Given the description of an element on the screen output the (x, y) to click on. 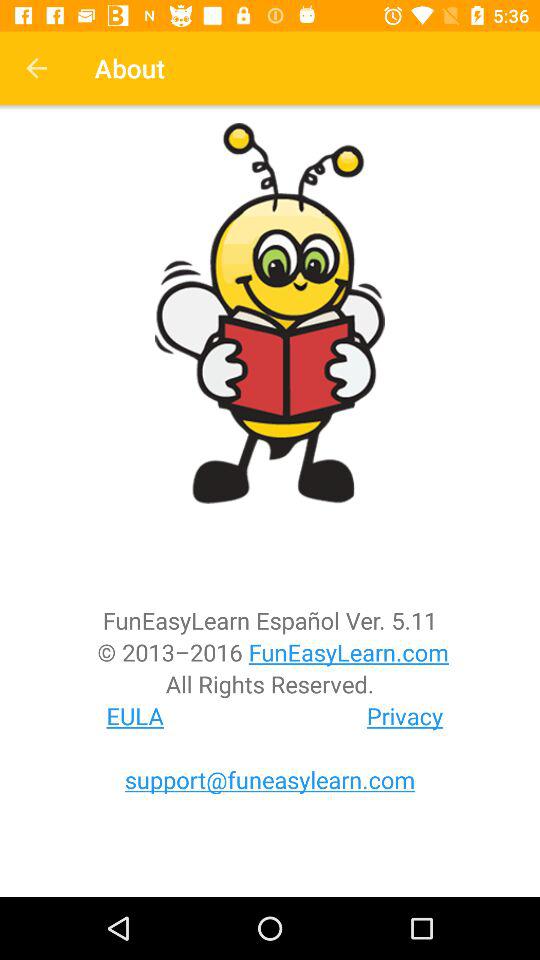
turn on the privacy item (405, 715)
